Given the description of an element on the screen output the (x, y) to click on. 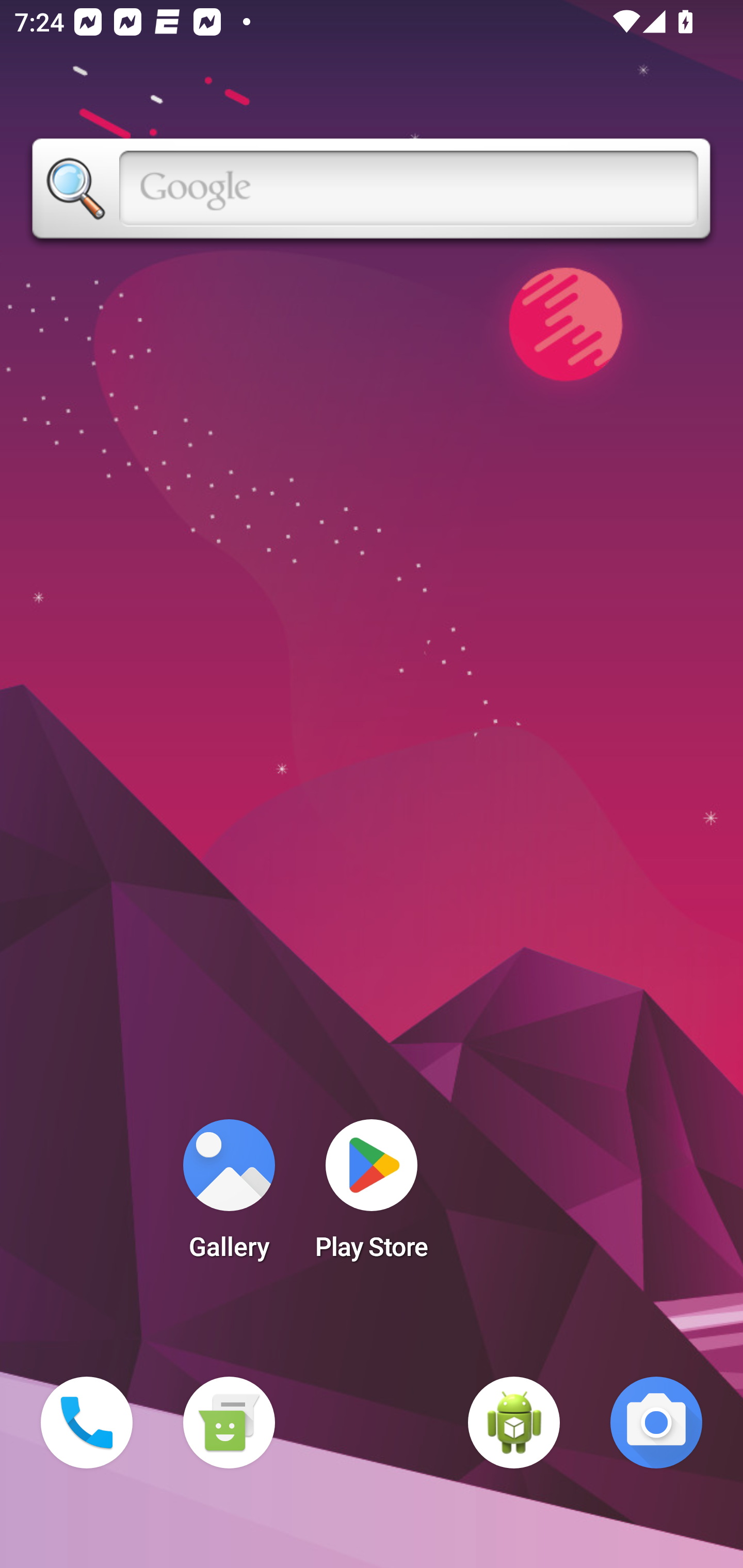
Gallery (228, 1195)
Play Store (371, 1195)
Phone (86, 1422)
Messaging (228, 1422)
WebView Browser Tester (513, 1422)
Camera (656, 1422)
